Given the description of an element on the screen output the (x, y) to click on. 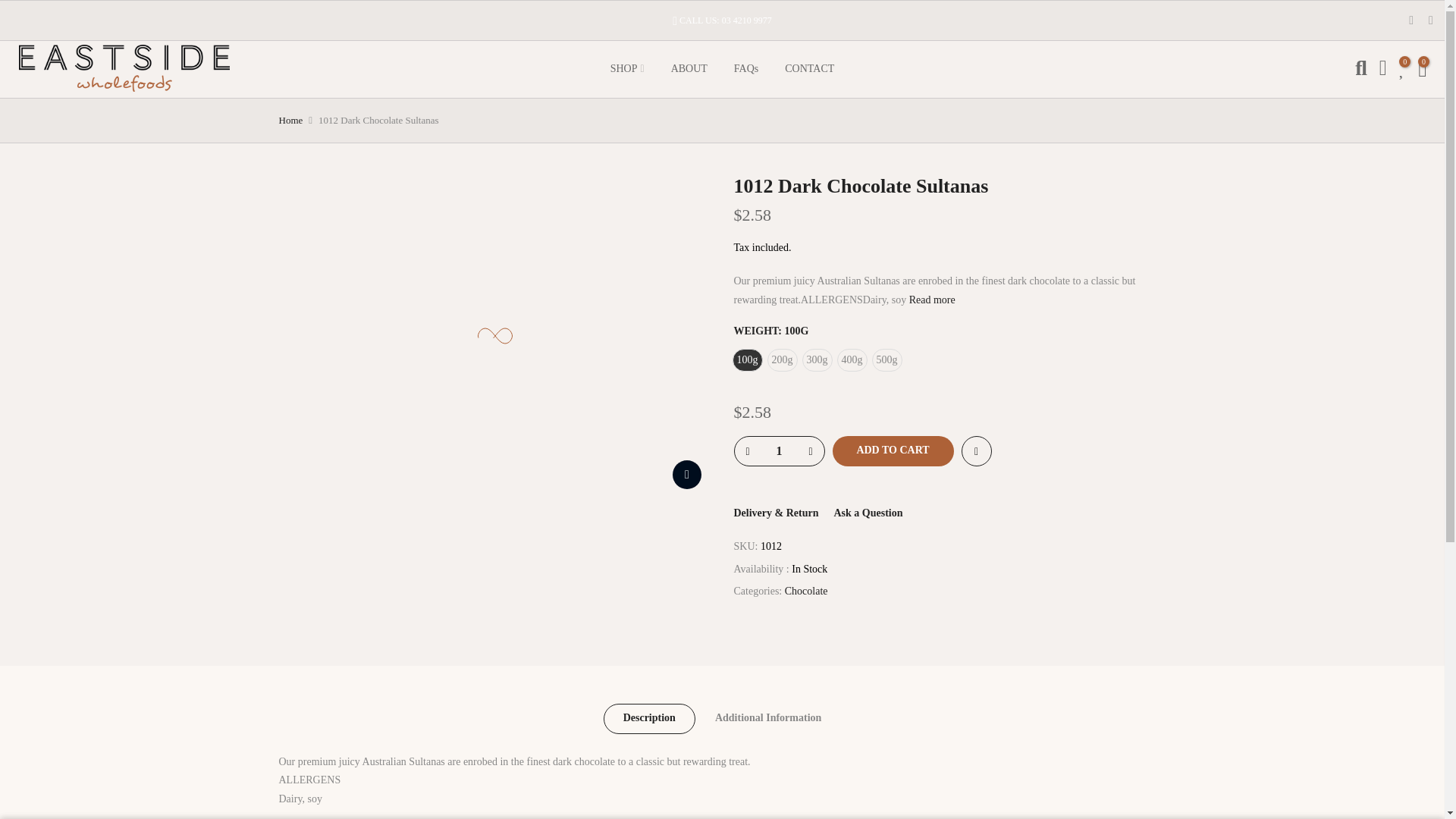
FAQs (745, 68)
Read more (930, 299)
ADD TO CART (892, 450)
Additional Information (768, 718)
SHOP (627, 68)
1 (778, 451)
ABOUT (689, 68)
Chocolate (806, 591)
Ask a Question (867, 512)
Description (649, 718)
Home (290, 120)
CONTACT (809, 68)
